Given the description of an element on the screen output the (x, y) to click on. 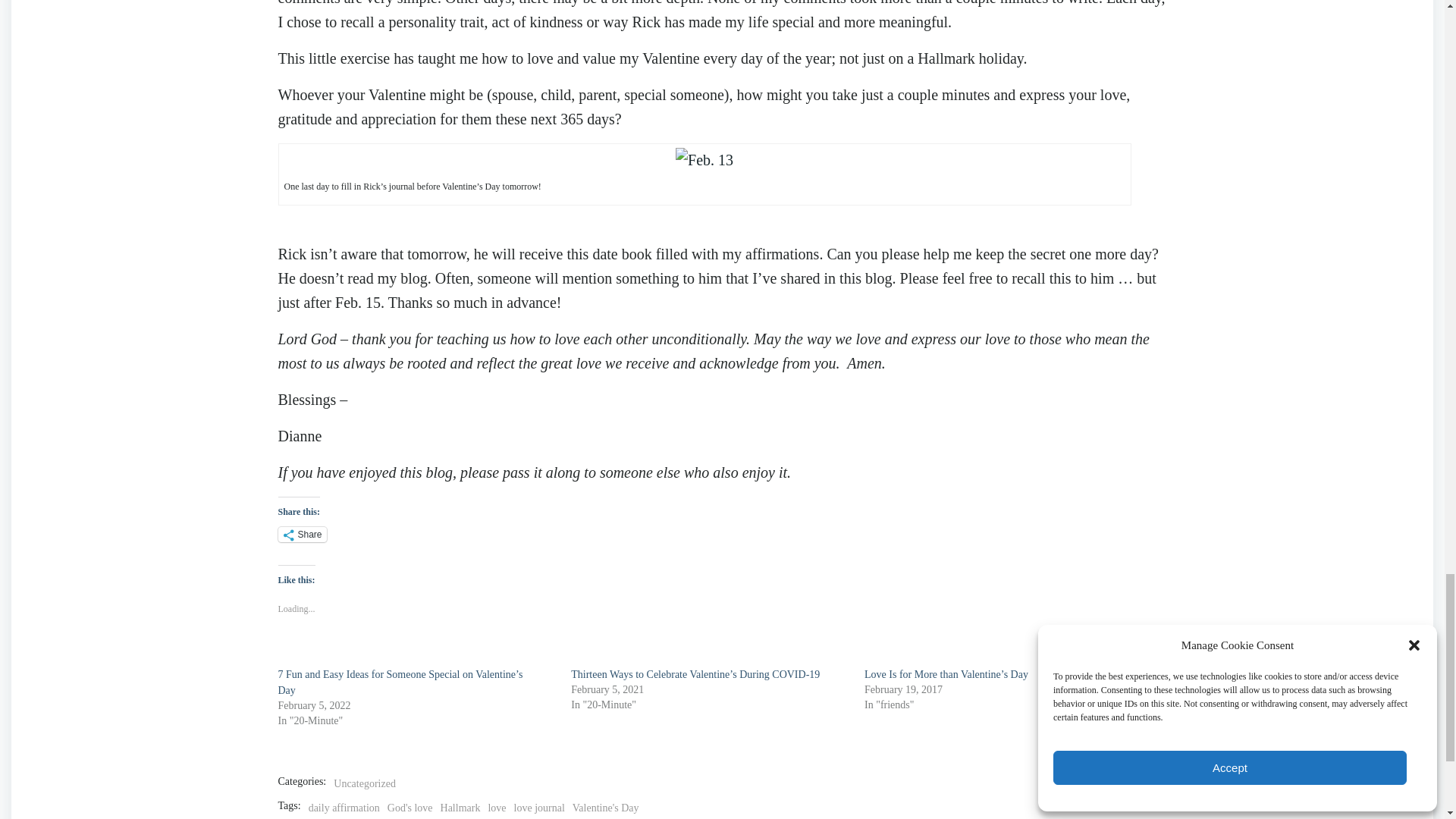
Valentine's Day Tag (605, 808)
Share (302, 534)
love Tag (496, 808)
Hallmark Tag (460, 808)
God's love Tag (409, 808)
daily affirmation Tag (344, 808)
love journal Tag (538, 808)
